Given the description of an element on the screen output the (x, y) to click on. 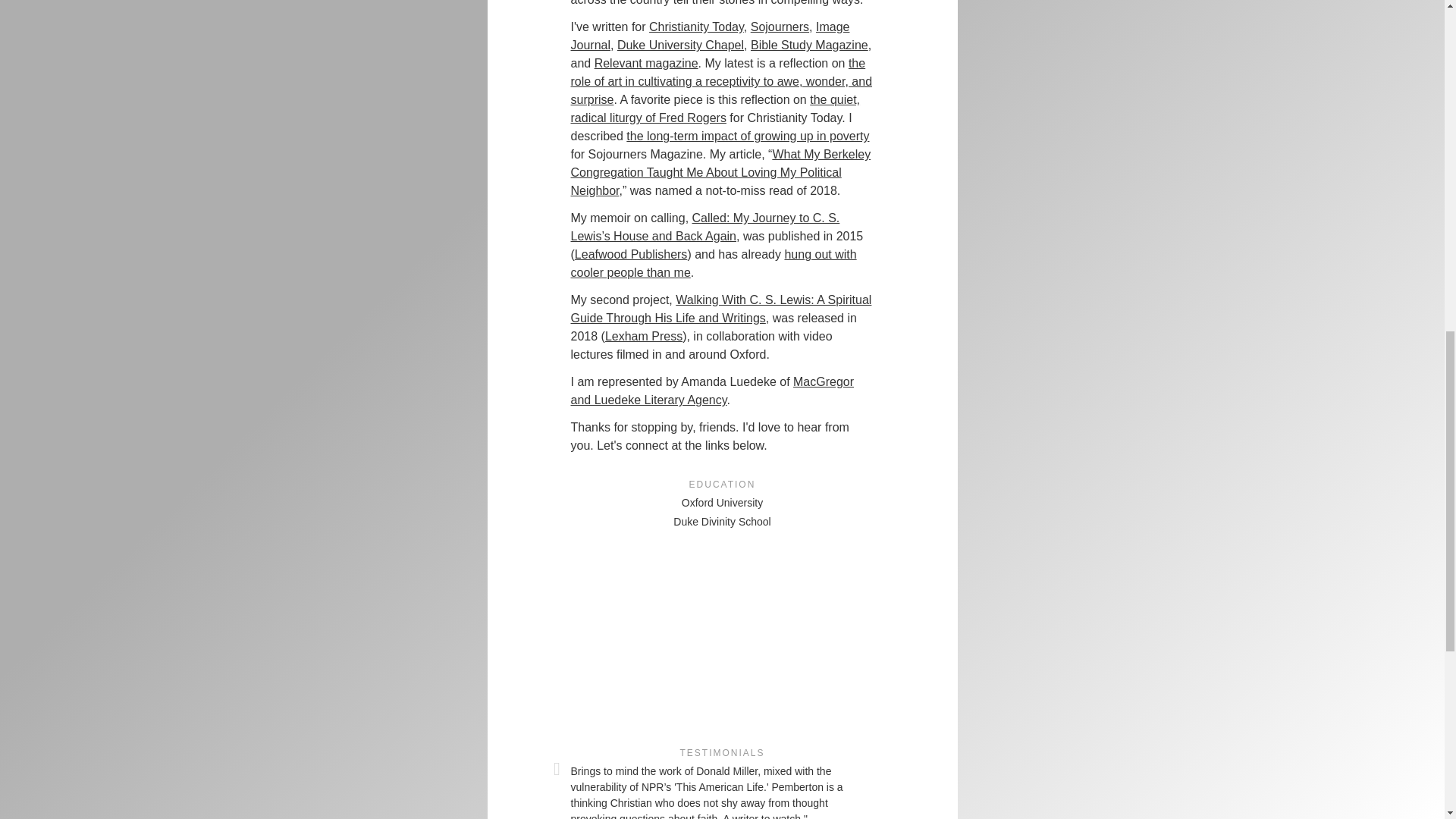
Leafwood Publishers (631, 254)
hung out with cooler people than me (713, 263)
Relevant magazine (646, 62)
Lexham Press (643, 336)
Sojourners (780, 26)
Bible Study Magazine (809, 44)
Christianity Today (696, 26)
the quiet, radical liturgy of Fred Rogers (715, 108)
the long-term impact of growing up in poverty (747, 135)
MacGregor and Luedeke Literary Agency (711, 390)
Duke University Chapel (680, 44)
Image Journal (709, 35)
